Given the description of an element on the screen output the (x, y) to click on. 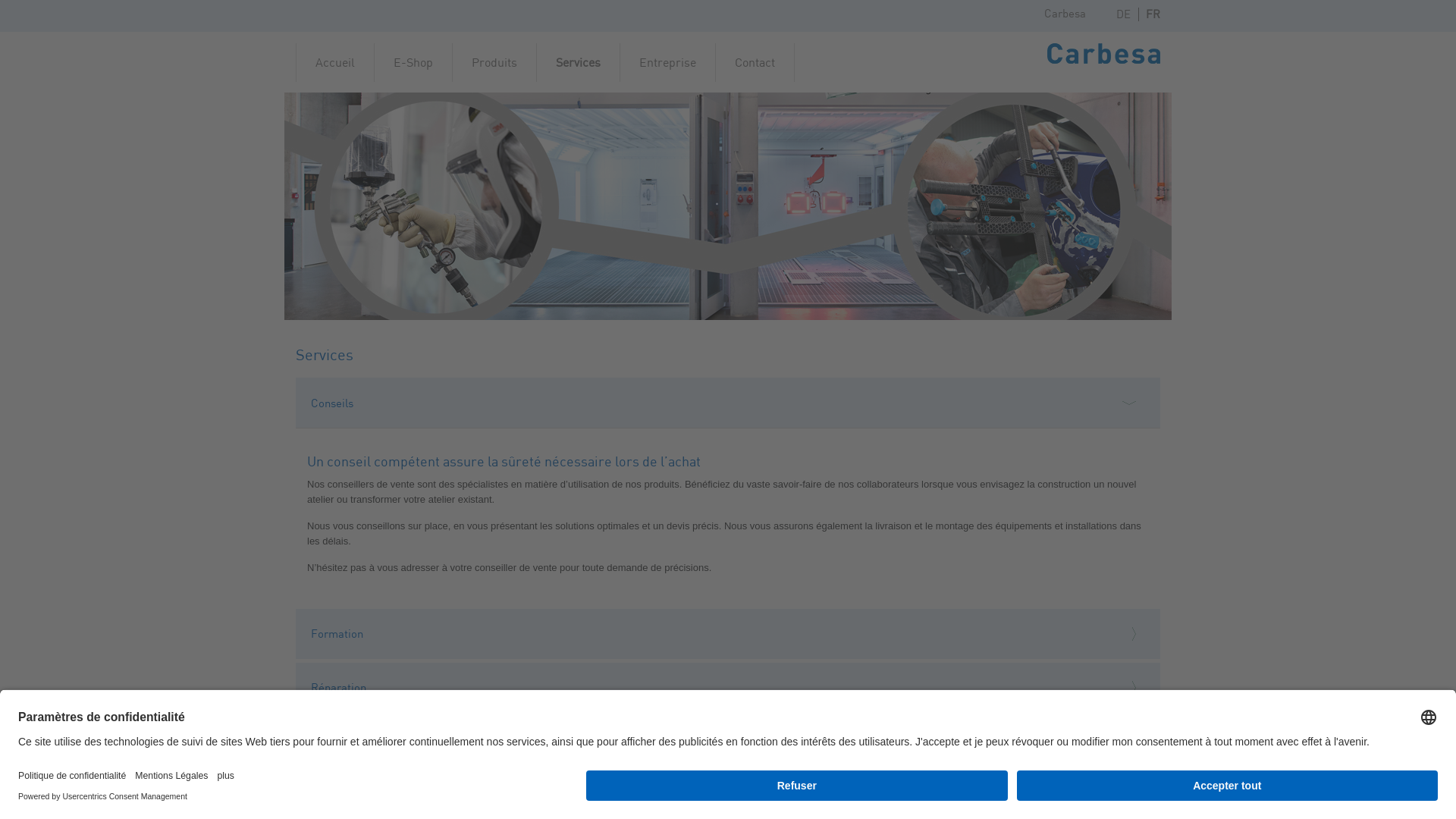
DE Element type: text (1123, 14)
Accueil Element type: text (334, 61)
FR Element type: text (1149, 14)
Formation Element type: text (727, 633)
Contact Element type: text (754, 61)
Conseils Element type: text (727, 402)
Racking System Element type: text (727, 741)
Produits Element type: text (494, 61)
Entreprise Element type: text (667, 61)
Services Element type: text (578, 61)
E-Shop Element type: text (413, 61)
Location de chambre Element type: text (727, 795)
